Given the description of an element on the screen output the (x, y) to click on. 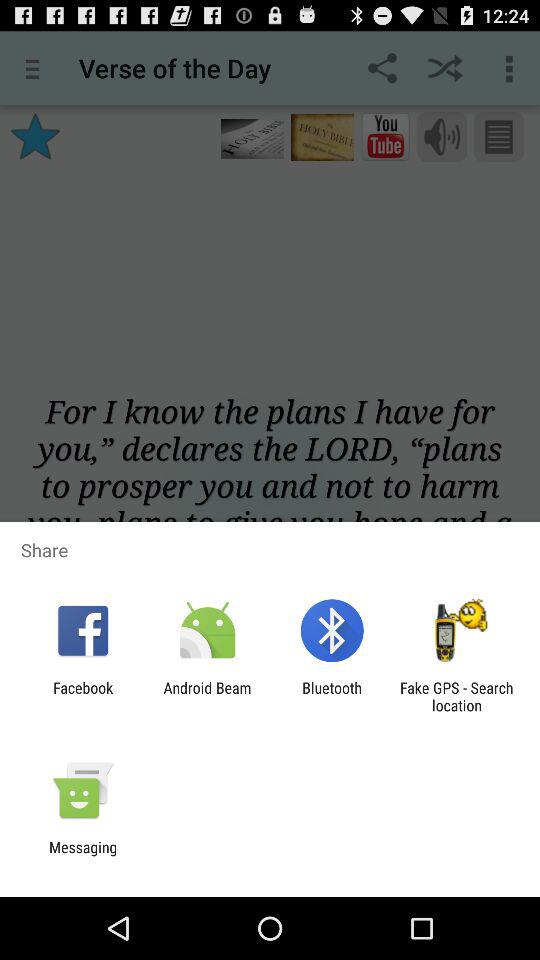
swipe to the android beam (207, 696)
